Given the description of an element on the screen output the (x, y) to click on. 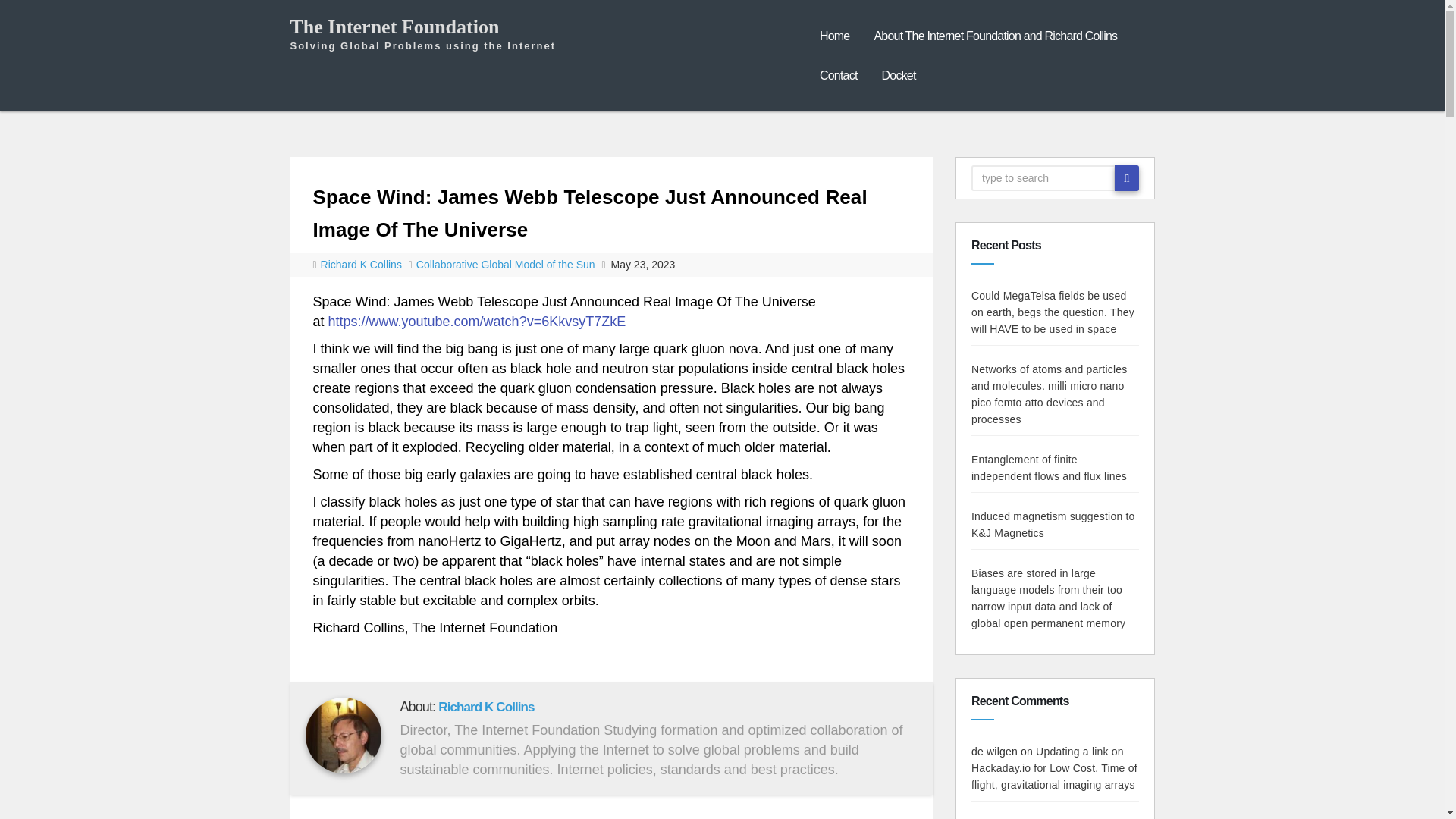
About The Internet Foundation and Richard Collins (995, 36)
Contact (838, 75)
Richard K Collins (486, 707)
Home (834, 36)
Collaborative Global Model of the Sun (505, 264)
Home (834, 36)
Docket (898, 75)
Richard K Collins (363, 264)
